Given the description of an element on the screen output the (x, y) to click on. 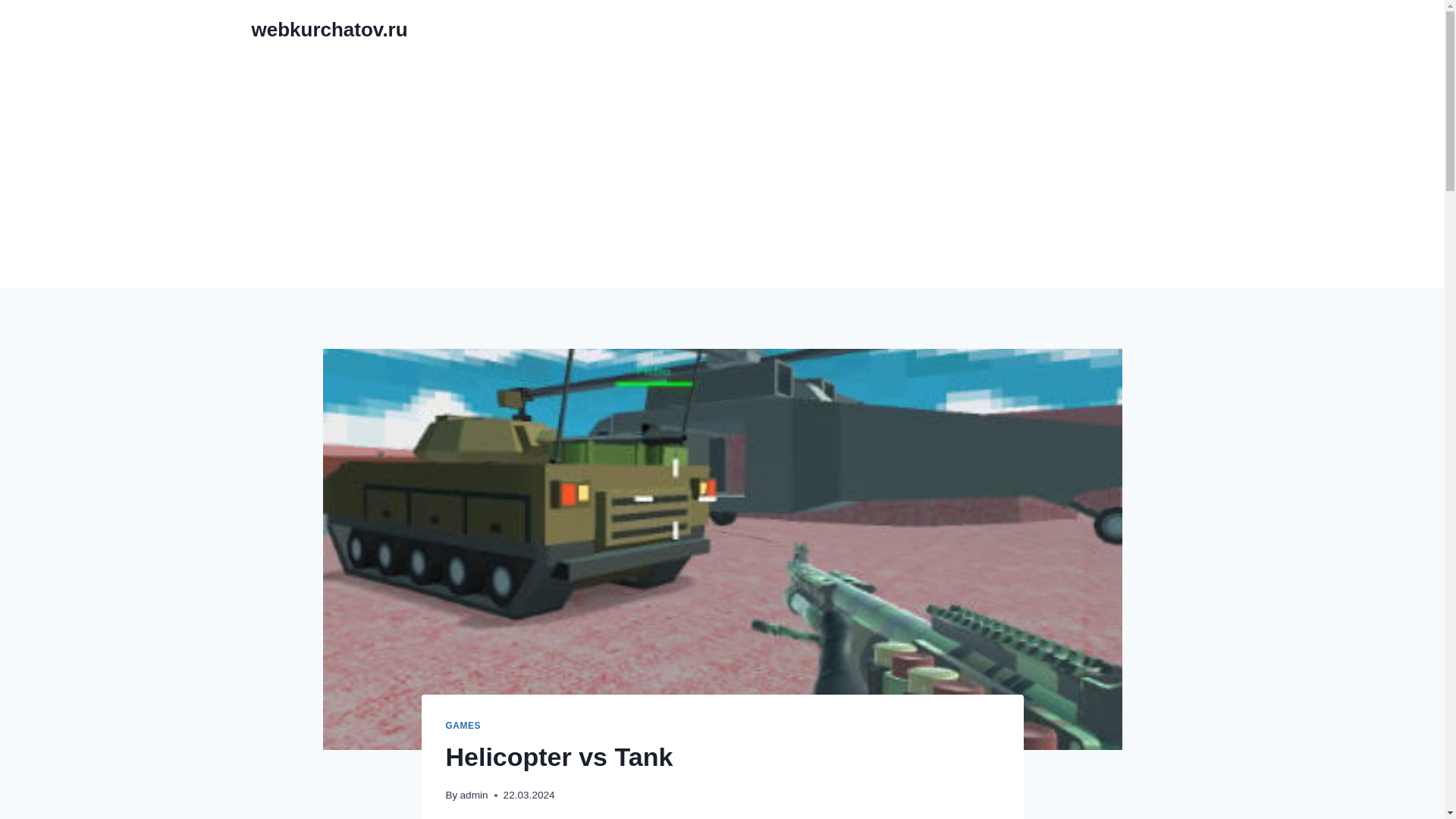
admin (473, 794)
webkurchatov.ru (329, 29)
GAMES (463, 725)
